Given the description of an element on the screen output the (x, y) to click on. 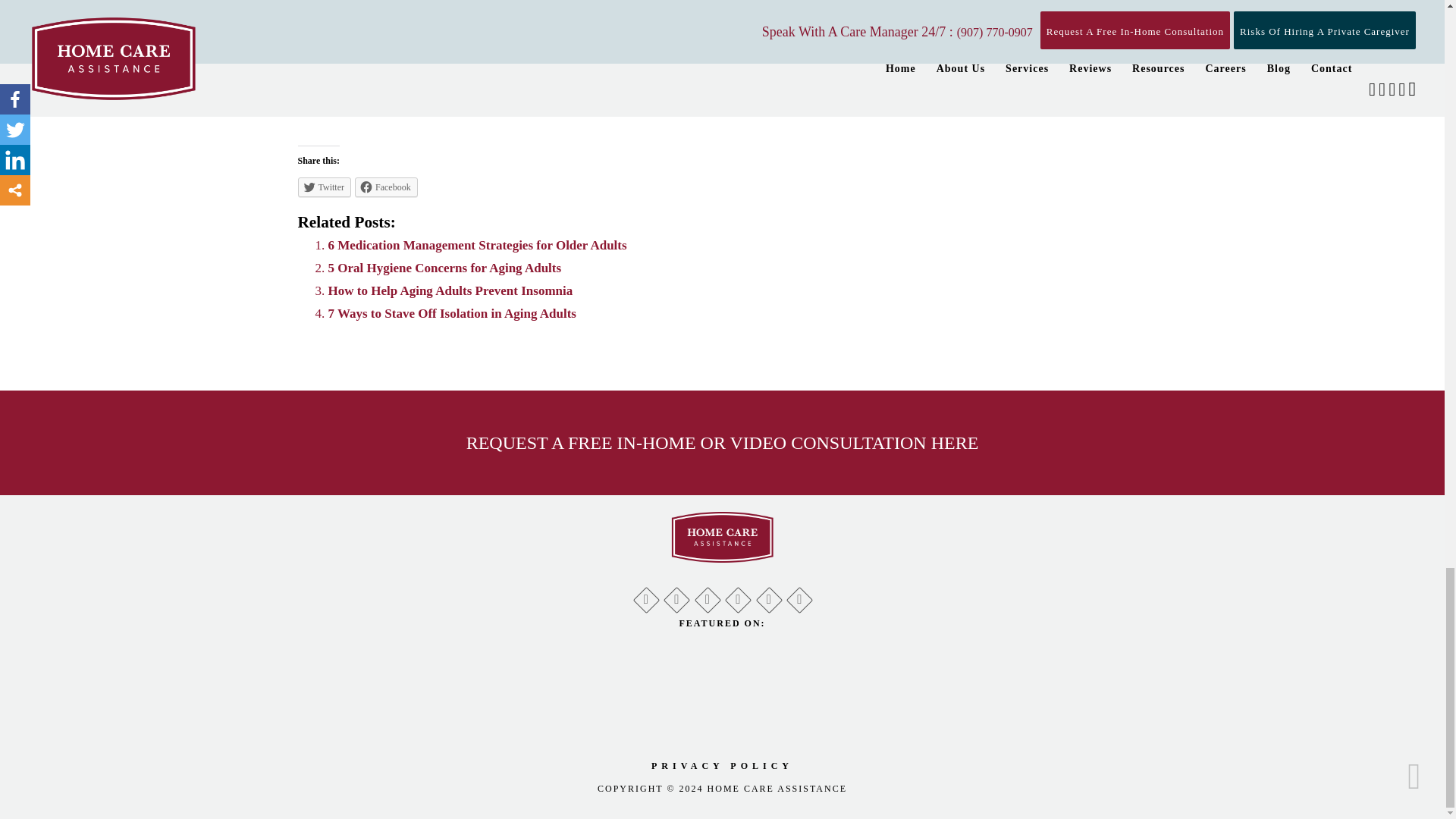
Facebook (675, 596)
Twitter (706, 596)
LinkedIn (737, 596)
7 Ways to Stave Off Isolation in Aging Adults (451, 313)
Google (645, 596)
5 Oral Hygiene Concerns for Aging Adults (443, 268)
Click to share on Facebook (386, 187)
How to Help Aging Adults Prevent Insomnia (449, 290)
Instagram (798, 596)
6 Medication Management Strategies for Older Adults (476, 245)
